Given the description of an element on the screen output the (x, y) to click on. 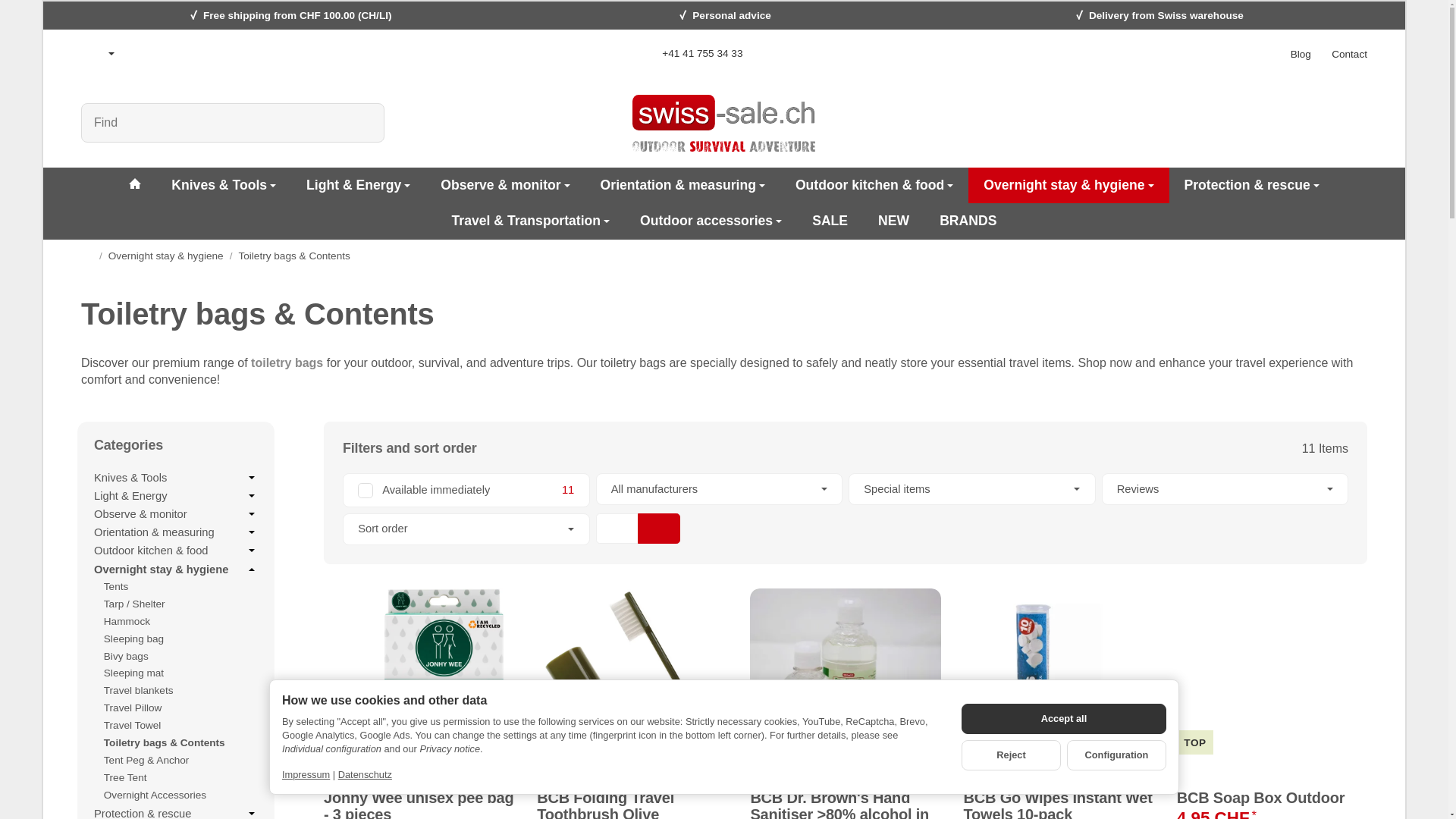
Swiss-Sale.ch (134, 185)
Please select a language. (98, 53)
Available immediately (465, 489)
Contact form (1349, 53)
Log in (1312, 122)
Outdoor Blog from Swiss-Sale.ch (1300, 53)
Homepage (87, 255)
Blog (1300, 53)
Basket (1351, 122)
Swiss-Sale.ch (724, 123)
